Given the description of an element on the screen output the (x, y) to click on. 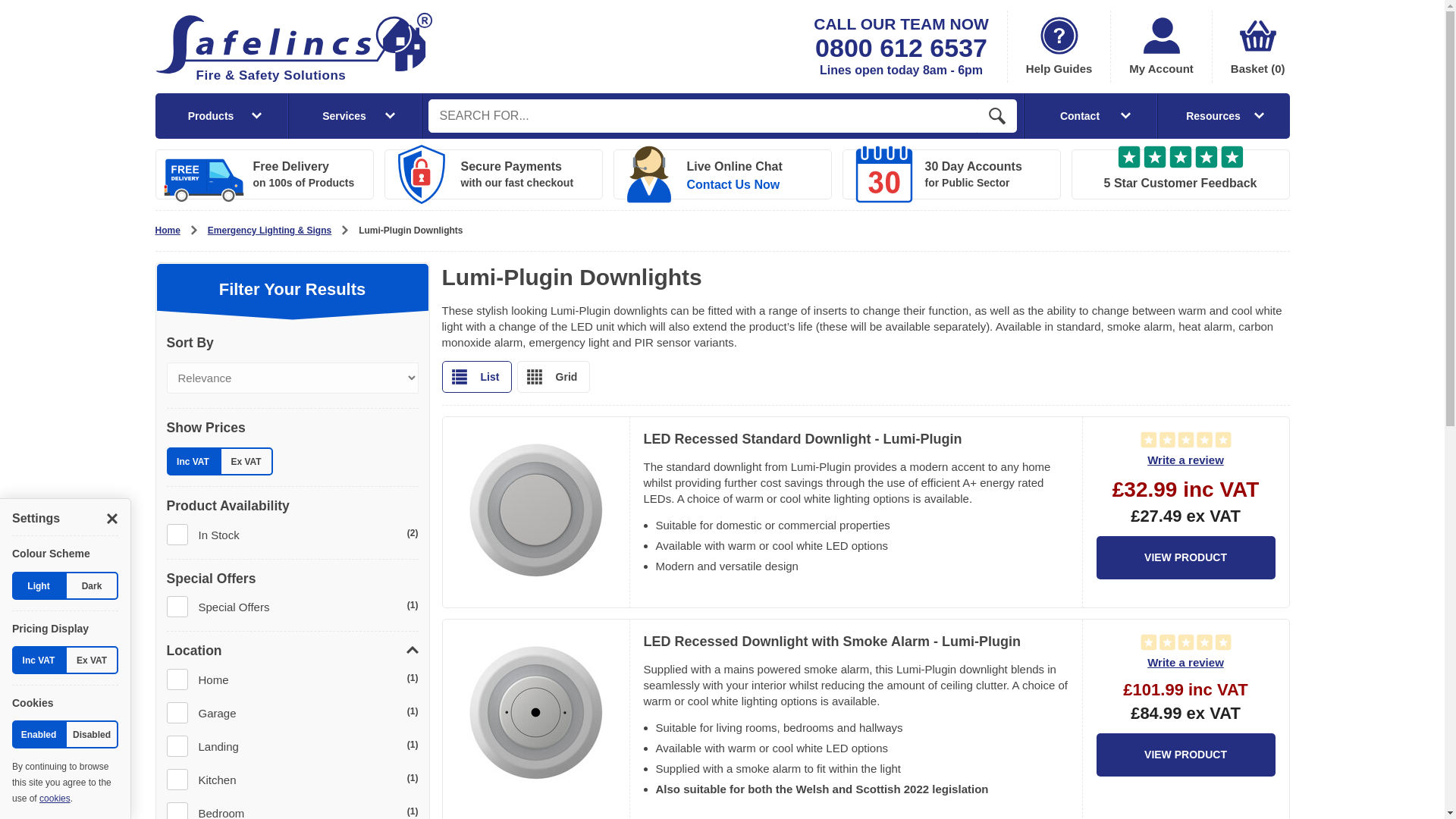
Resources (1223, 115)
Products (220, 115)
LED Recessed Downlight with Smoke Alarm - Lumi-Plugin (831, 641)
Help Guides (1058, 46)
LED Recessed Standard Downlight - Lumi-Plugin (801, 438)
LED Recessed Standard Downlight - Lumi-Plugin (1185, 557)
Delivery Information (263, 174)
LED Recessed Downlight with Smoke Alarm - Lumi-Plugin (1185, 754)
LED Recessed Standard Downlight - Lumi-Plugin (536, 511)
0800 612 6537 (900, 48)
